Given the description of an element on the screen output the (x, y) to click on. 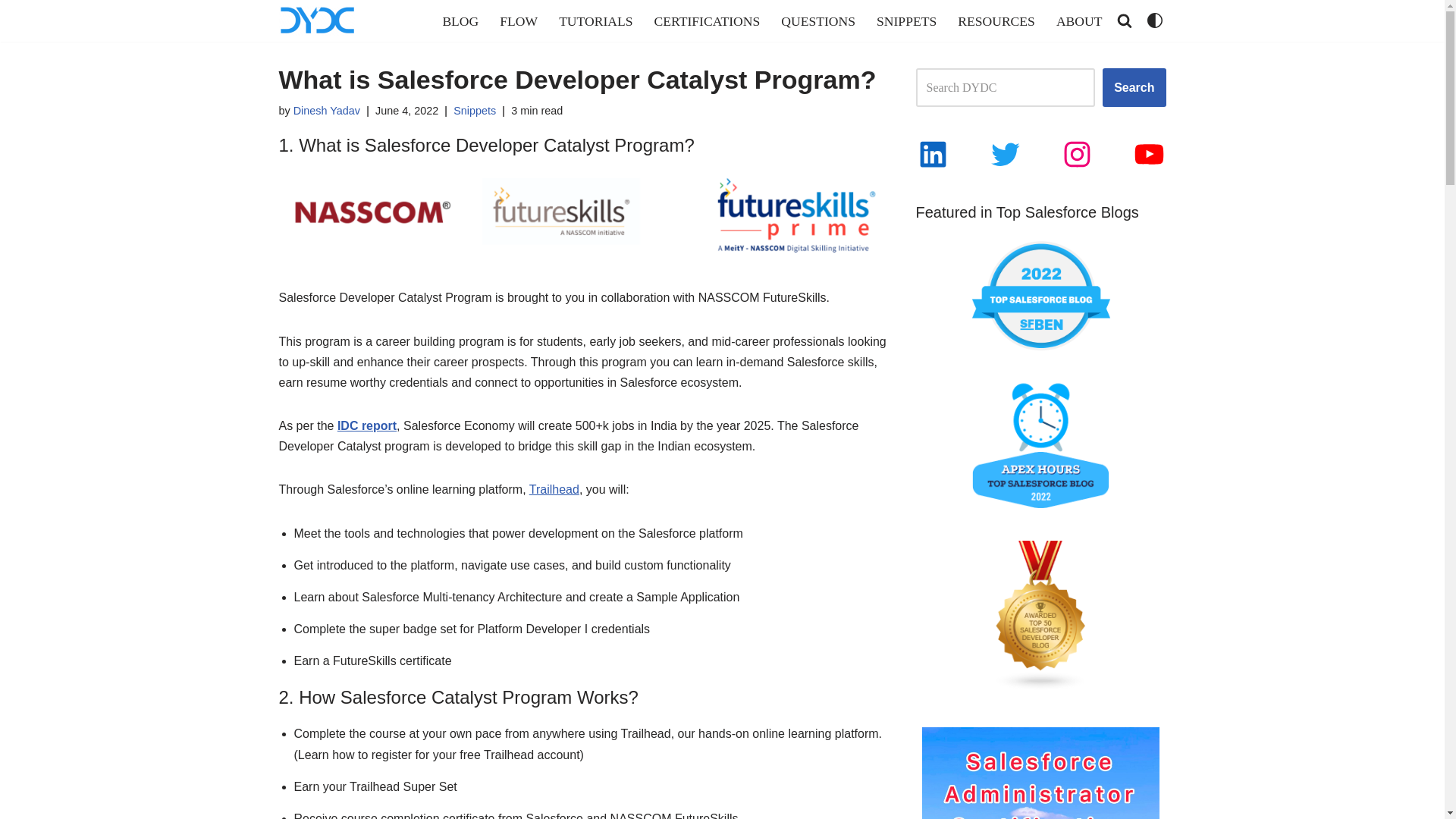
Dinesh Yadav (326, 110)
FLOW (518, 20)
Posts by Dinesh Yadav (326, 110)
Trailhead (554, 489)
IDC report (366, 425)
Snippets (474, 110)
SNIPPETS (906, 20)
BLOG (460, 20)
CERTIFICATIONS (706, 20)
TUTORIALS (595, 20)
Skip to content (11, 31)
QUESTIONS (818, 20)
ABOUT (1079, 20)
RESOURCES (996, 20)
